Given the description of an element on the screen output the (x, y) to click on. 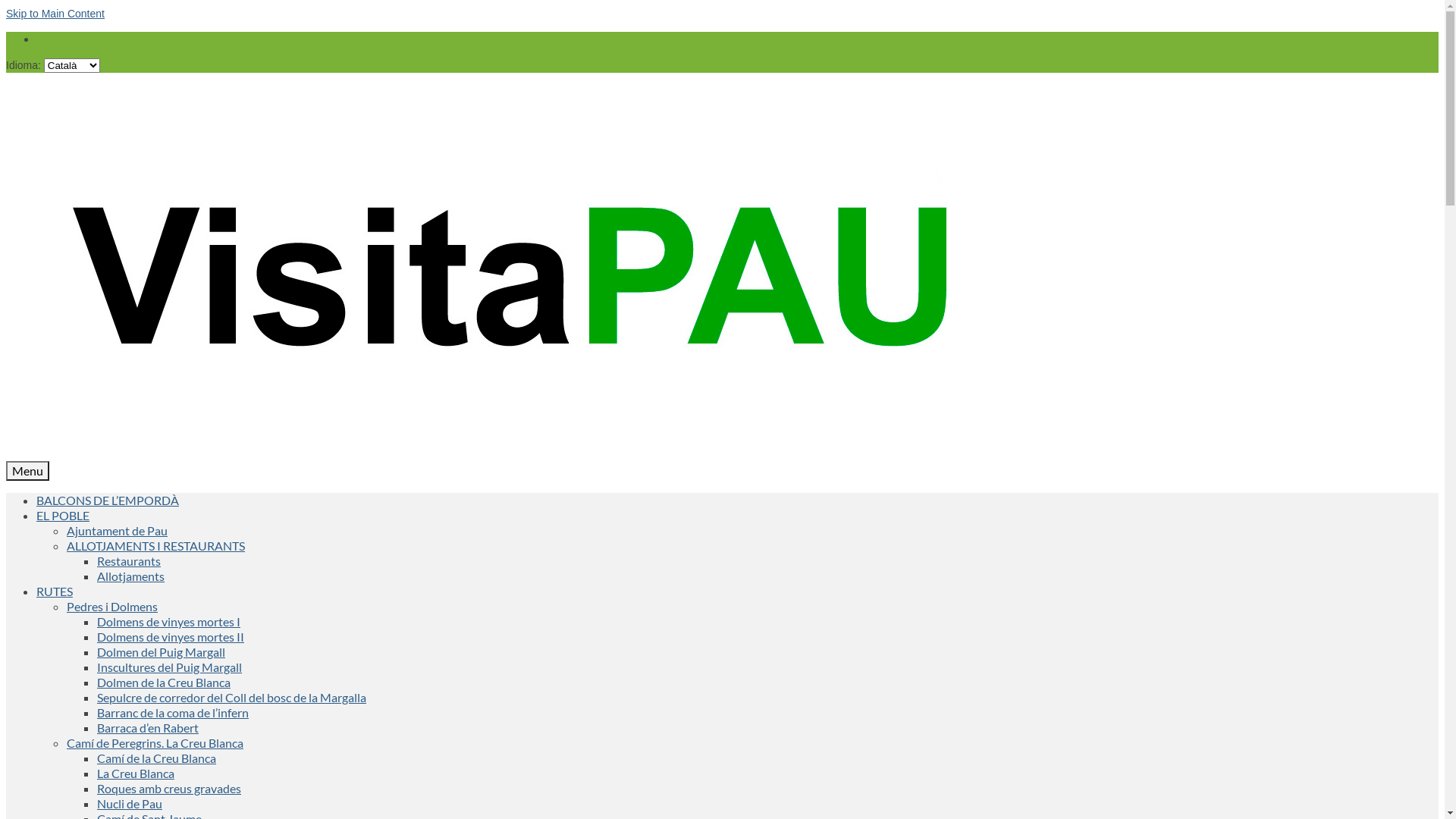
Inscultures del Puig Margall Element type: text (169, 666)
RUTES Element type: text (54, 590)
Allotjaments Element type: text (130, 575)
Pedres i Dolmens Element type: text (111, 606)
Restaurants Element type: text (128, 560)
Dolmens de vinyes mortes II Element type: text (170, 636)
Dolmen de la Creu Blanca Element type: text (163, 681)
Dolmen del Puig Margall Element type: text (161, 651)
ALLOTJAMENTS I RESTAURANTS Element type: text (155, 545)
La Creu Blanca Element type: text (135, 772)
Roques amb creus gravades Element type: text (169, 788)
Dolmens de vinyes mortes I Element type: text (168, 621)
Ajuntament de Pau Element type: text (116, 530)
Skip to Main Content Element type: text (55, 13)
EL POBLE Element type: text (62, 515)
Sepulcre de corredor del Coll del bosc de la Margalla Element type: text (231, 697)
Nucli de Pau Element type: text (129, 803)
Menu Element type: text (27, 470)
